Given the description of an element on the screen output the (x, y) to click on. 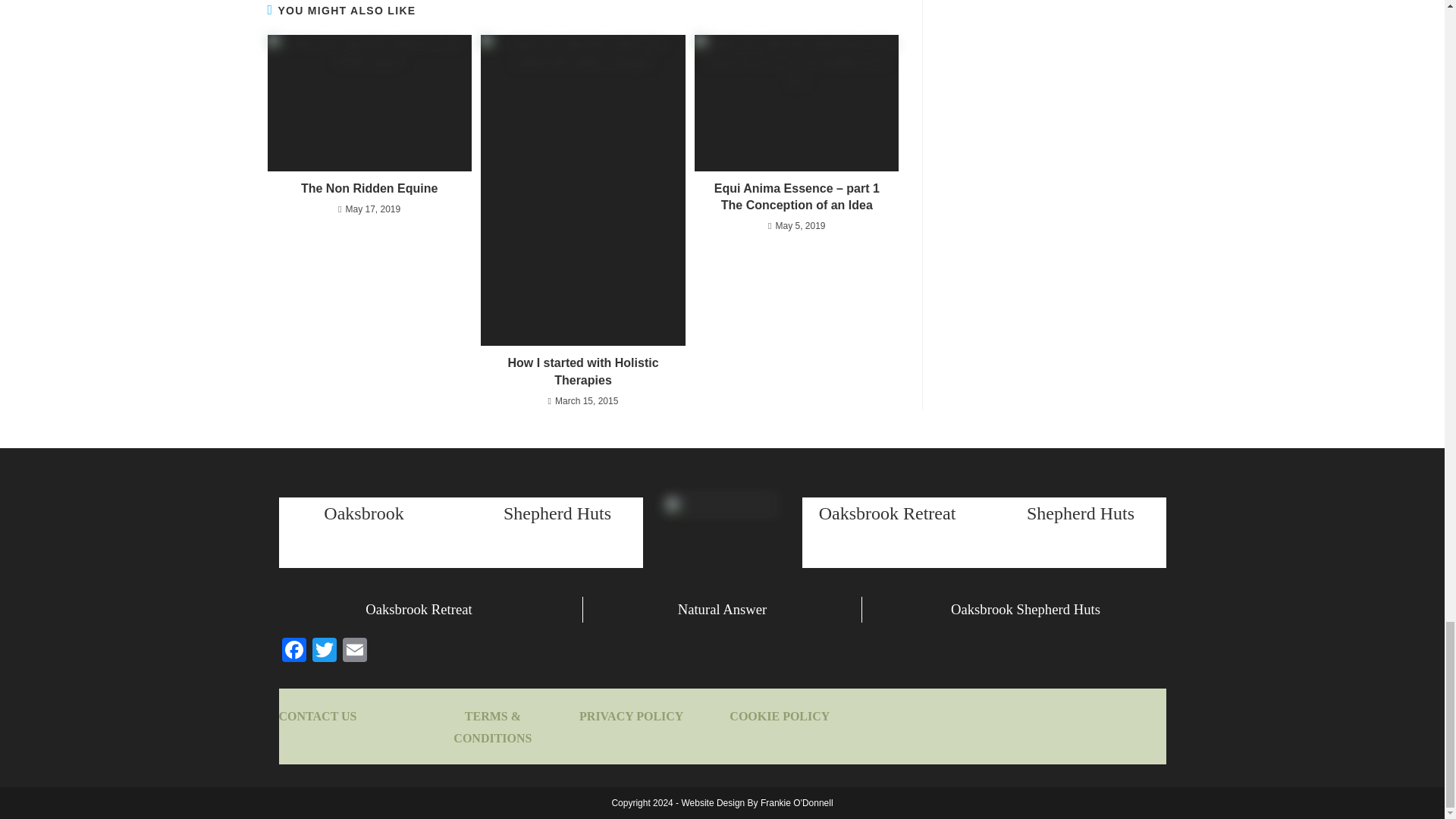
Twitter (323, 651)
Facebook (293, 651)
Oaksbrook Logo Dark (721, 547)
Email (354, 651)
